Given the description of an element on the screen output the (x, y) to click on. 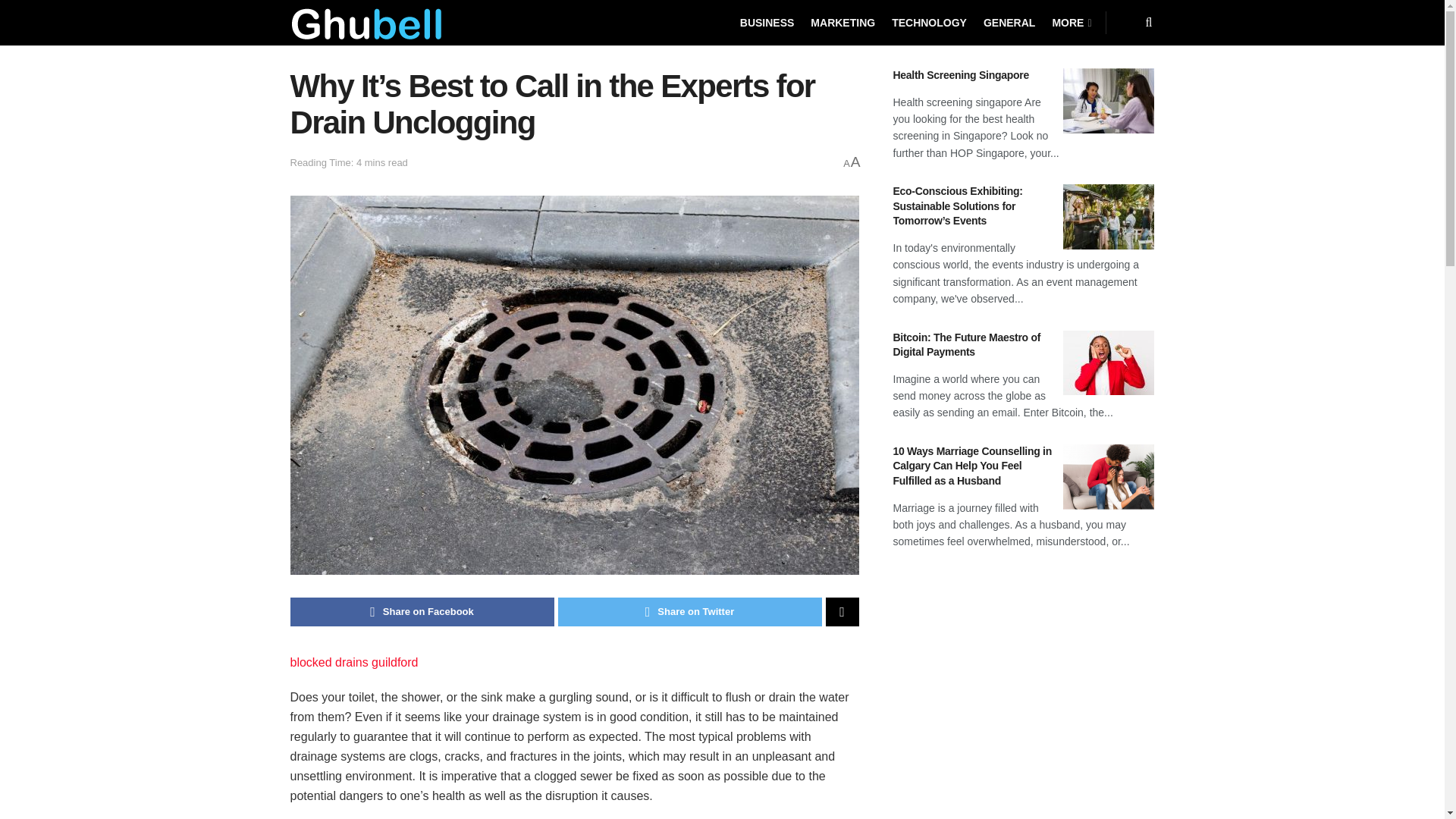
MARKETING (842, 22)
TECHNOLOGY (928, 22)
BUSINESS (766, 22)
GENERAL (1009, 22)
